Given the description of an element on the screen output the (x, y) to click on. 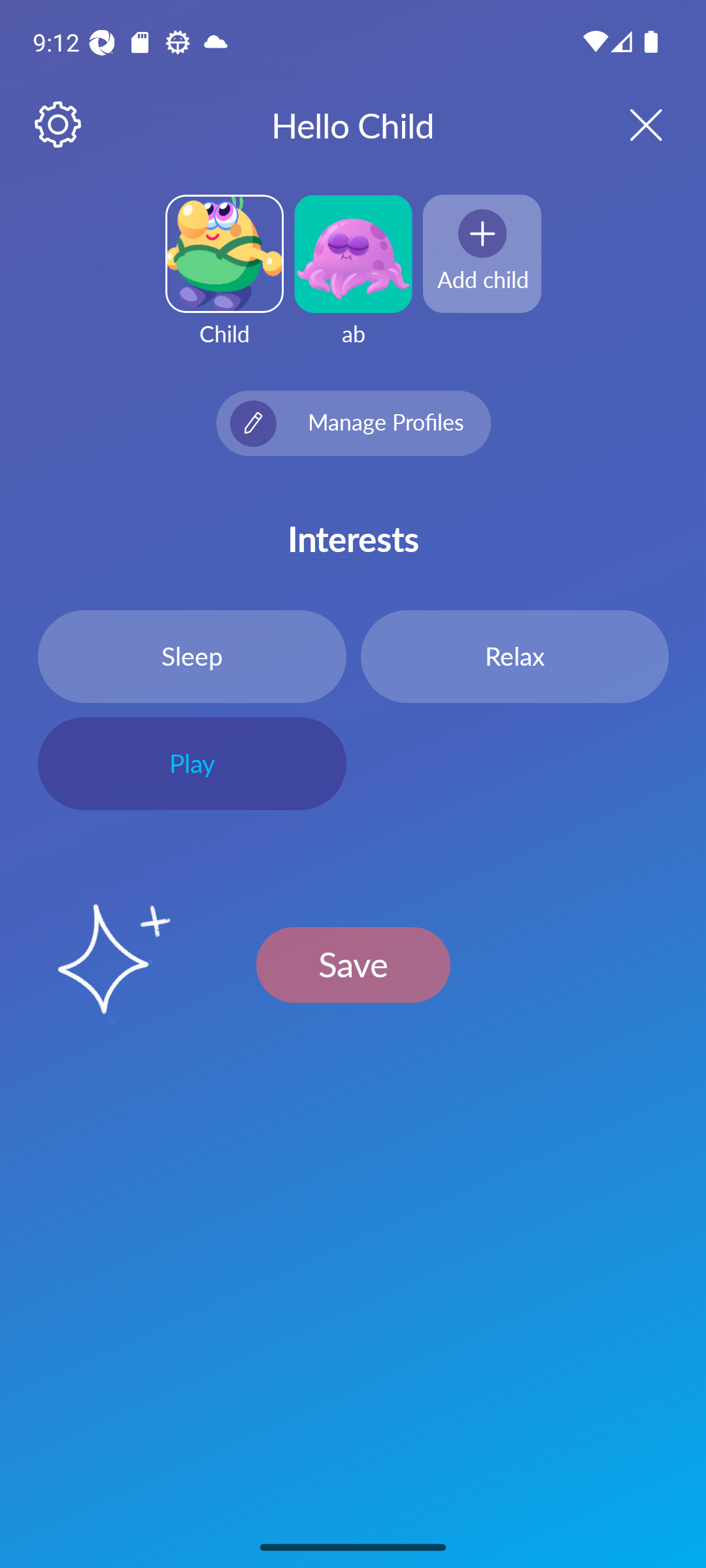
Close (629, 124)
Settings (58, 125)
Child (224, 282)
ab (353, 282)
Add child (481, 253)
icon Manage Profiles (353, 423)
Sleep (192, 655)
Relax (514, 655)
Play (192, 764)
Save (353, 964)
